Given the description of an element on the screen output the (x, y) to click on. 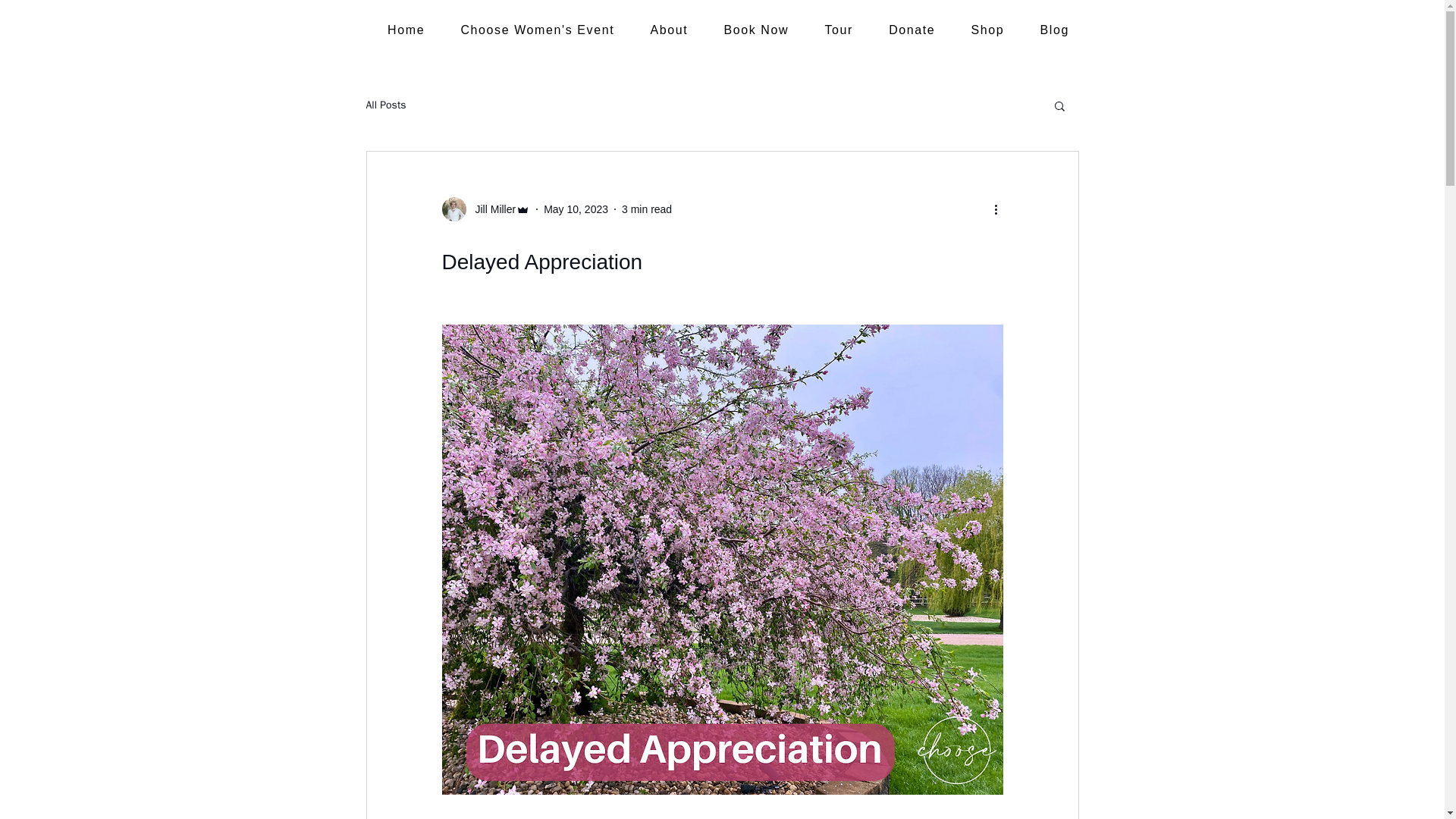
Jill Miller (490, 209)
Donate (912, 30)
Tour (838, 30)
Shop (987, 30)
Blog (1054, 30)
Book Now (756, 30)
All Posts (385, 105)
Choose Women's Event (536, 30)
Jill Miller (485, 209)
May 10, 2023 (575, 209)
3 min read (646, 209)
Home (405, 30)
About (668, 30)
